Given the description of an element on the screen output the (x, y) to click on. 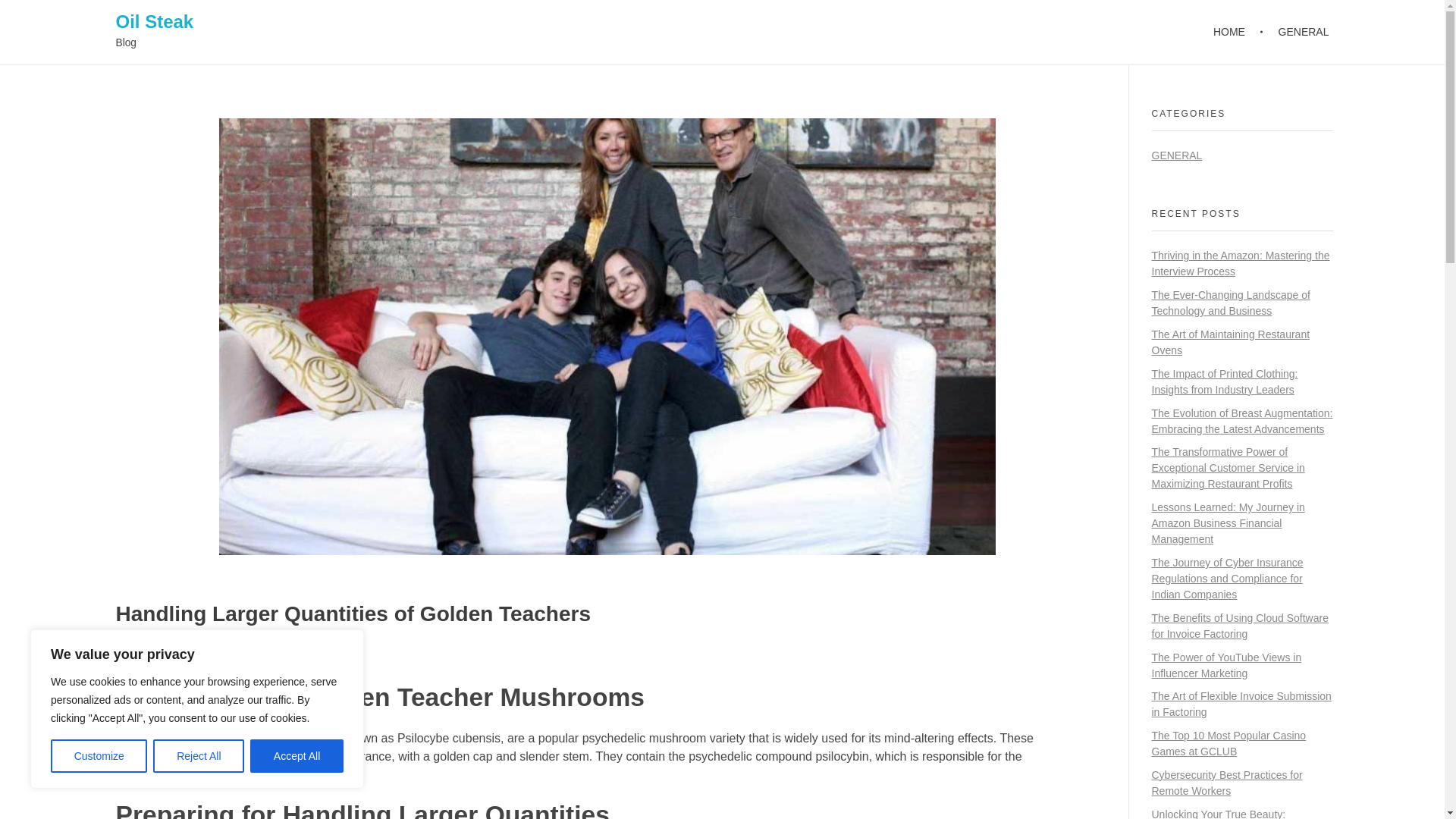
Oil Steak (154, 21)
Reject All (198, 756)
Oil Steak (154, 21)
The Art of Maintaining Restaurant Ovens (1229, 342)
Thriving in the Amazon: Mastering the Interview Process (1240, 263)
GENERAL (1295, 32)
The Ever-Changing Landscape of Technology and Business (1229, 302)
General (276, 653)
GENERAL (1176, 155)
The Benefits of Using Cloud Software for Invoice Factoring (1239, 625)
View all posts in General (276, 653)
